Given the description of an element on the screen output the (x, y) to click on. 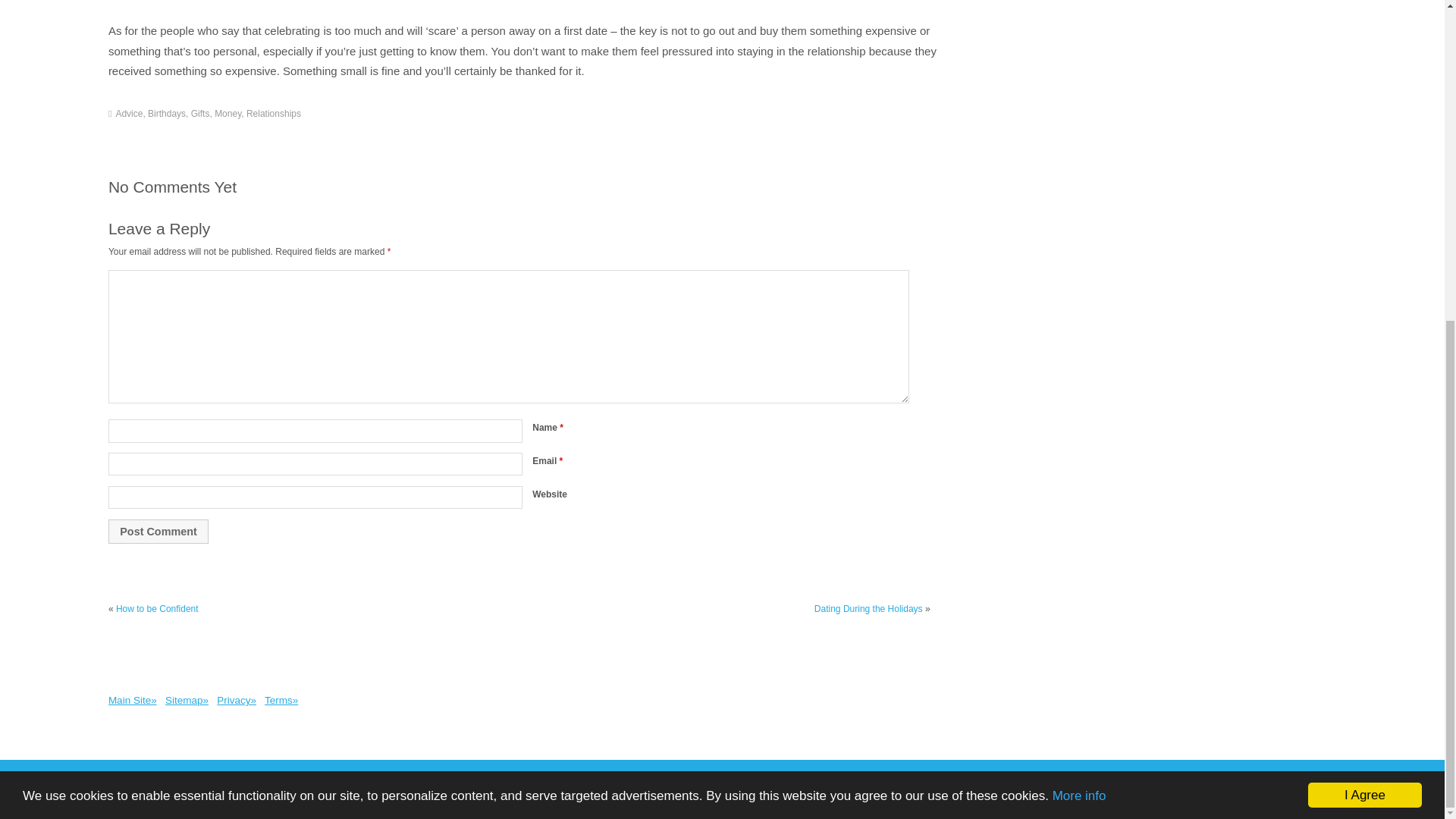
Post Comment (157, 531)
Money (227, 113)
Post Comment (157, 531)
Birthdays (167, 113)
Advice (128, 113)
Gifts (199, 113)
Relationships (273, 113)
How to be Confident (157, 608)
Dating During the Holidays (868, 608)
